Given the description of an element on the screen output the (x, y) to click on. 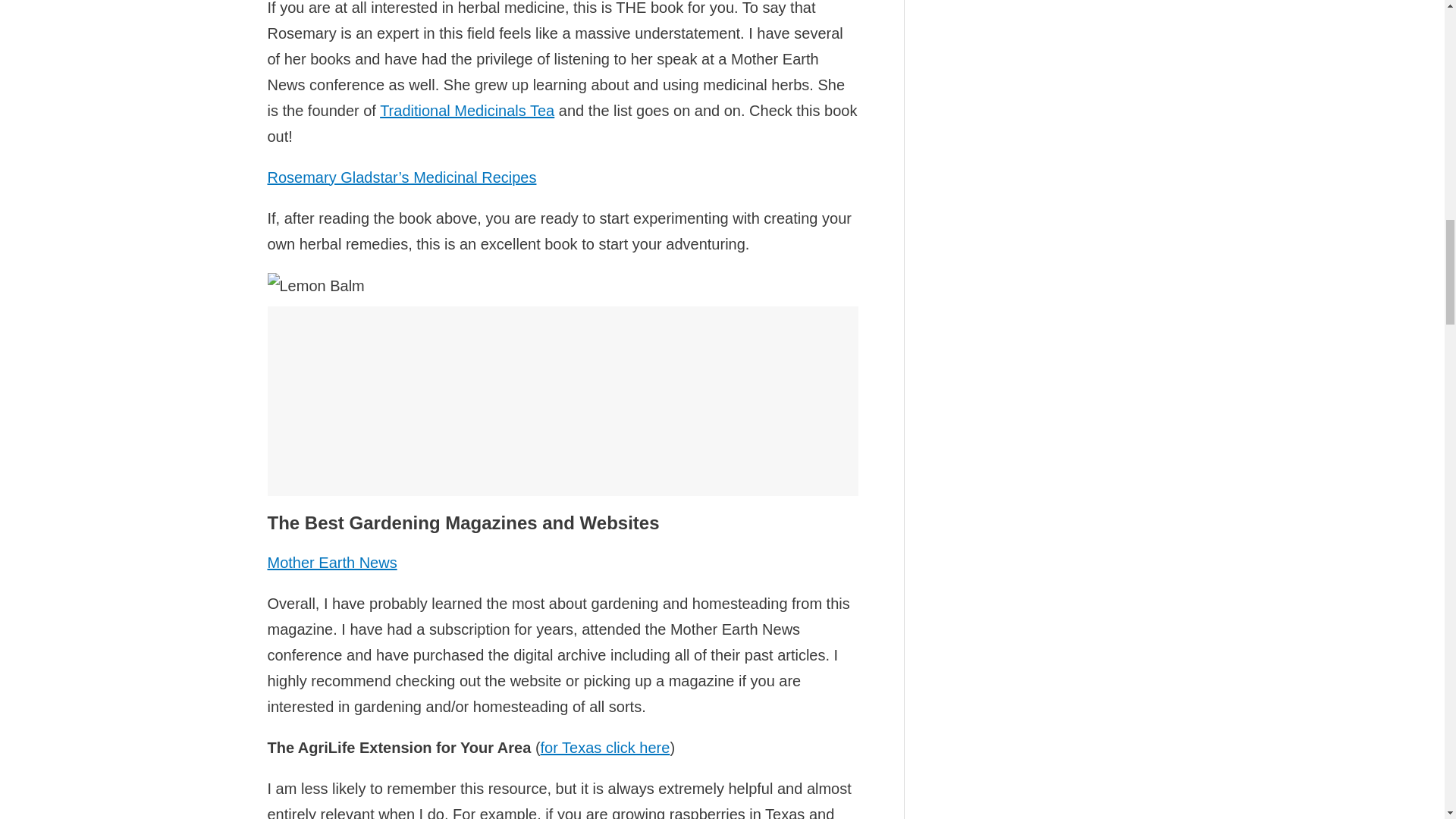
Traditional Medicinals Tea (467, 110)
for Texas click here (604, 747)
Mother Earth News (331, 562)
